Given the description of an element on the screen output the (x, y) to click on. 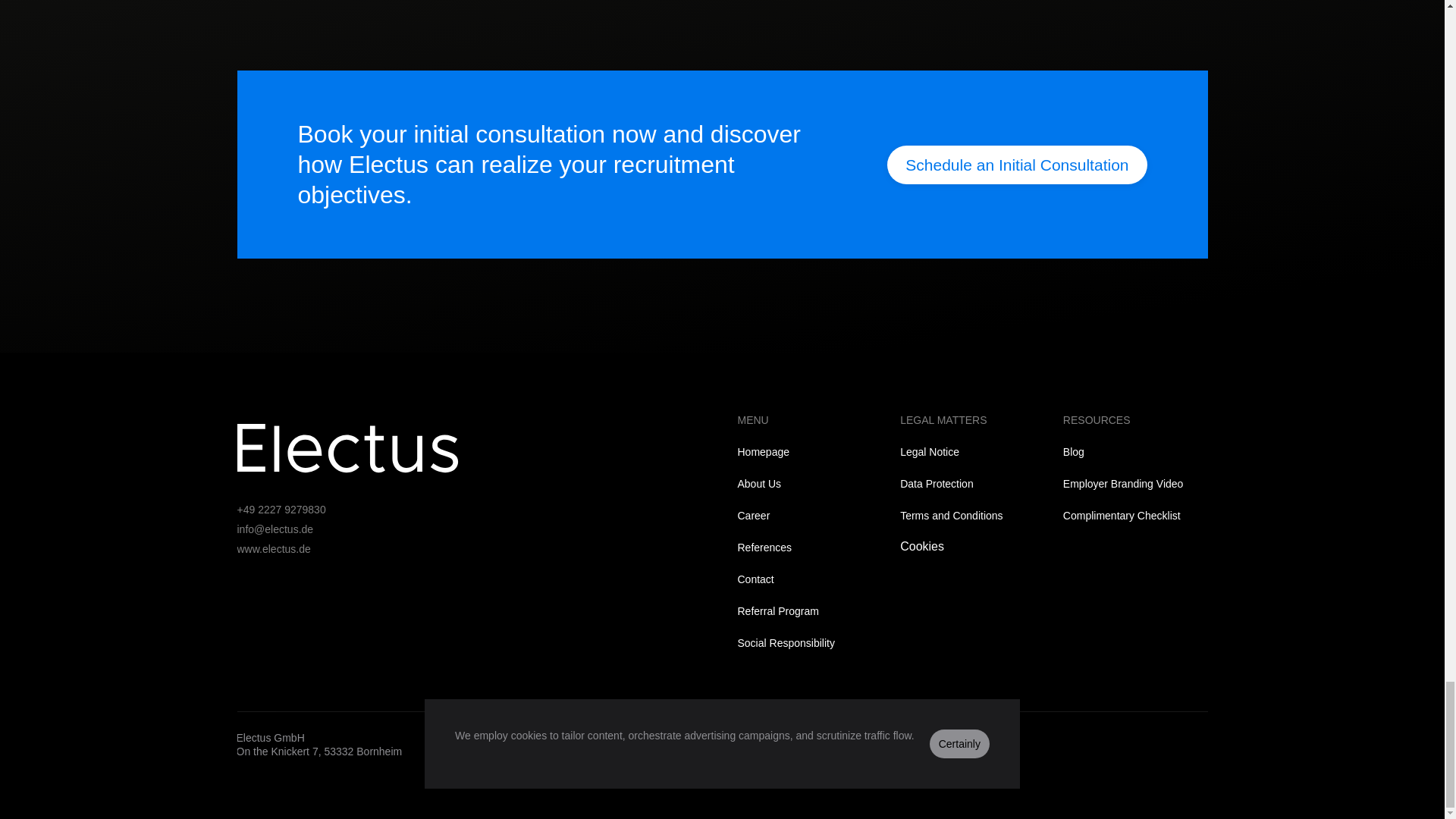
Legal Notice (929, 451)
Facebook (825, 737)
Complimentary Checklist (1121, 515)
Social Responsibility (785, 643)
Career (753, 515)
Cookies (921, 546)
Homepage (762, 451)
Employer Branding Video (1122, 483)
Data Protection (936, 483)
References (764, 547)
